Given the description of an element on the screen output the (x, y) to click on. 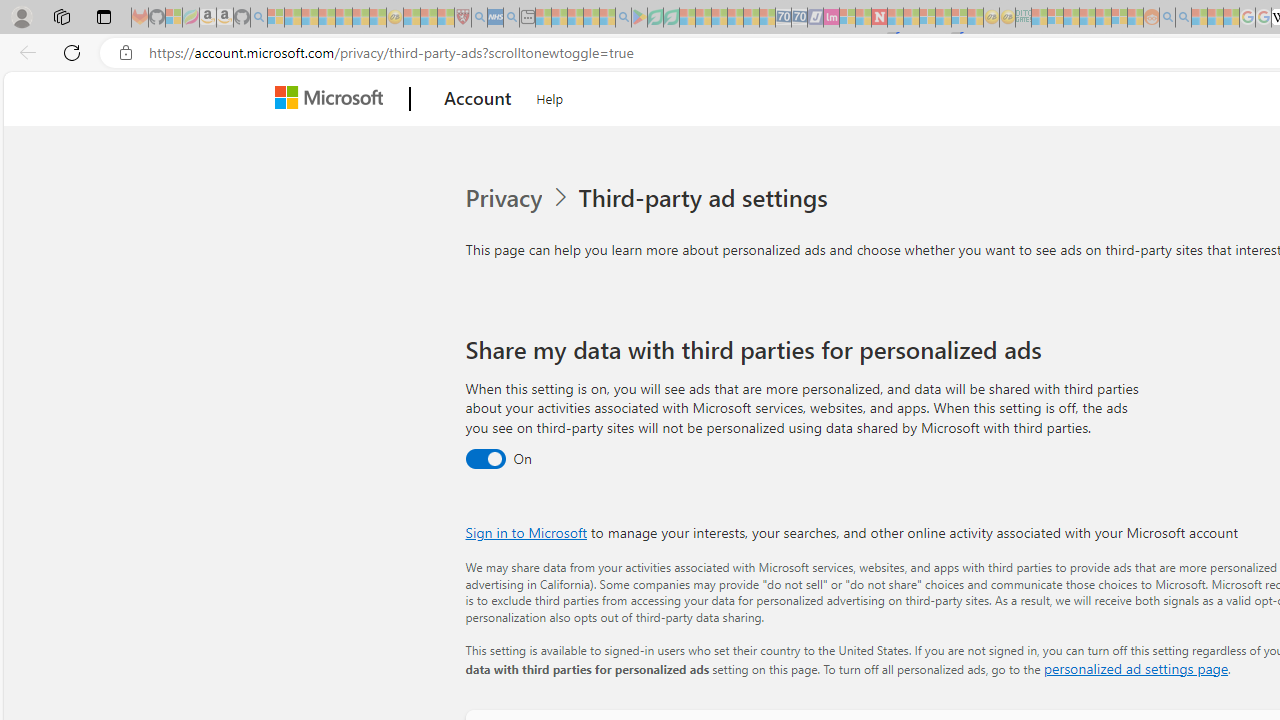
personalized ad settings page (1135, 668)
utah sues federal government - Search - Sleeping (511, 17)
